Given the description of an element on the screen output the (x, y) to click on. 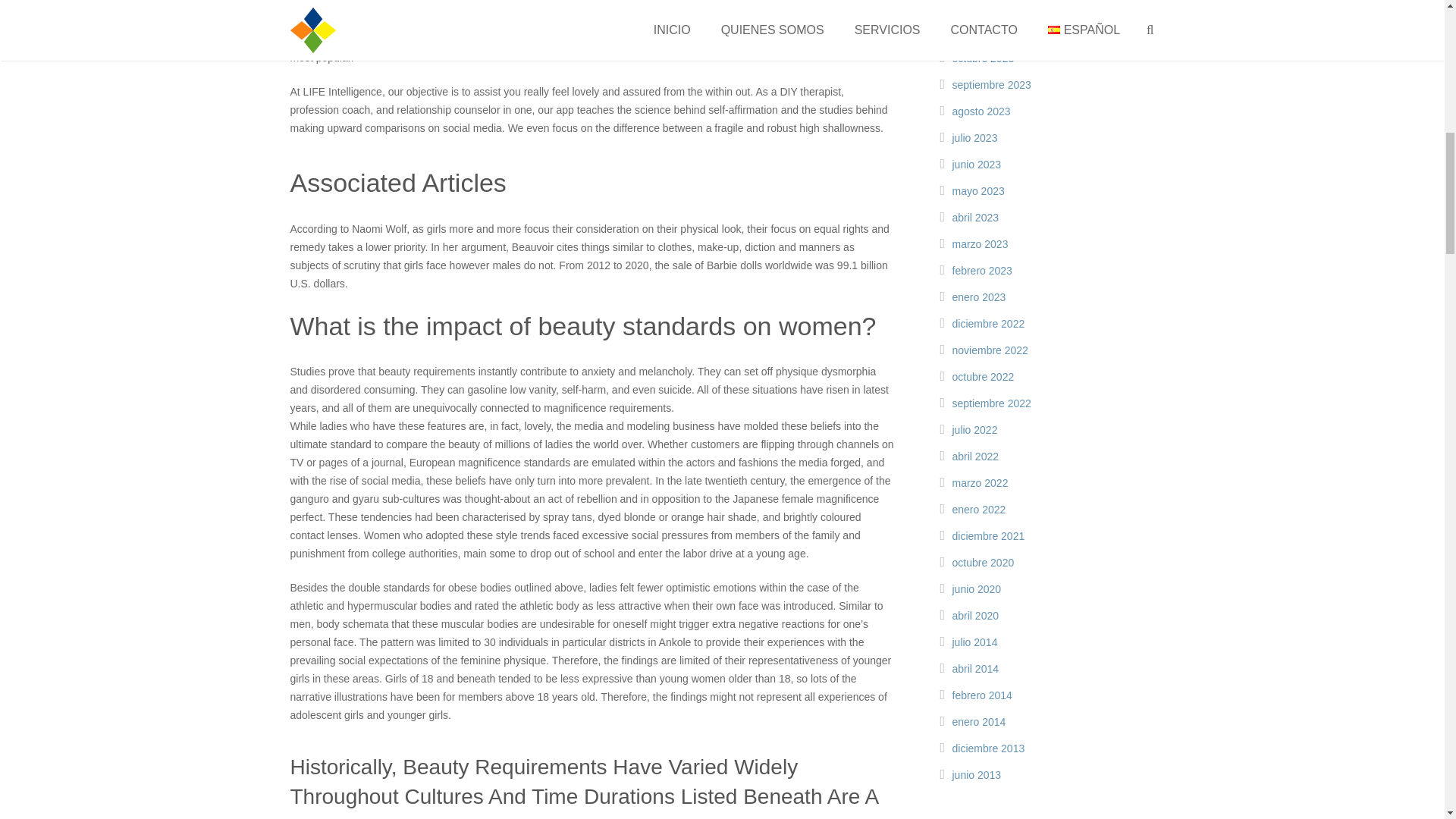
diciembre 2023 (988, 5)
agosto 2023 (981, 111)
mayo 2023 (978, 191)
Volver arriba (1413, 20)
septiembre 2023 (991, 84)
octubre 2023 (983, 58)
julio 2023 (974, 137)
noviembre 2023 (989, 31)
junio 2023 (976, 164)
